Given the description of an element on the screen output the (x, y) to click on. 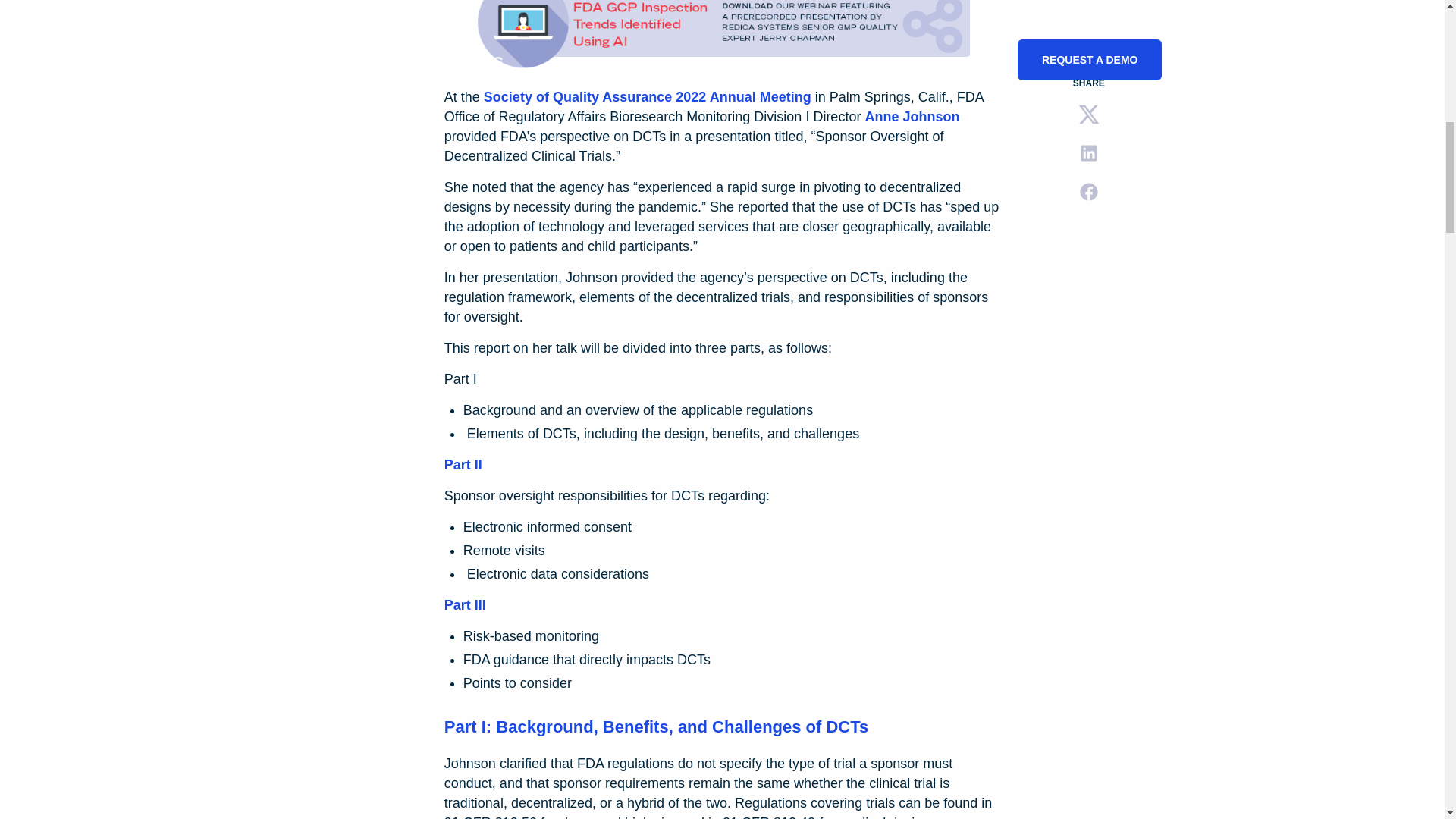
Anne Johnson (911, 116)
Society of Quality Assurance 2022 Annual Meeting (646, 96)
Part II (462, 464)
